Given the description of an element on the screen output the (x, y) to click on. 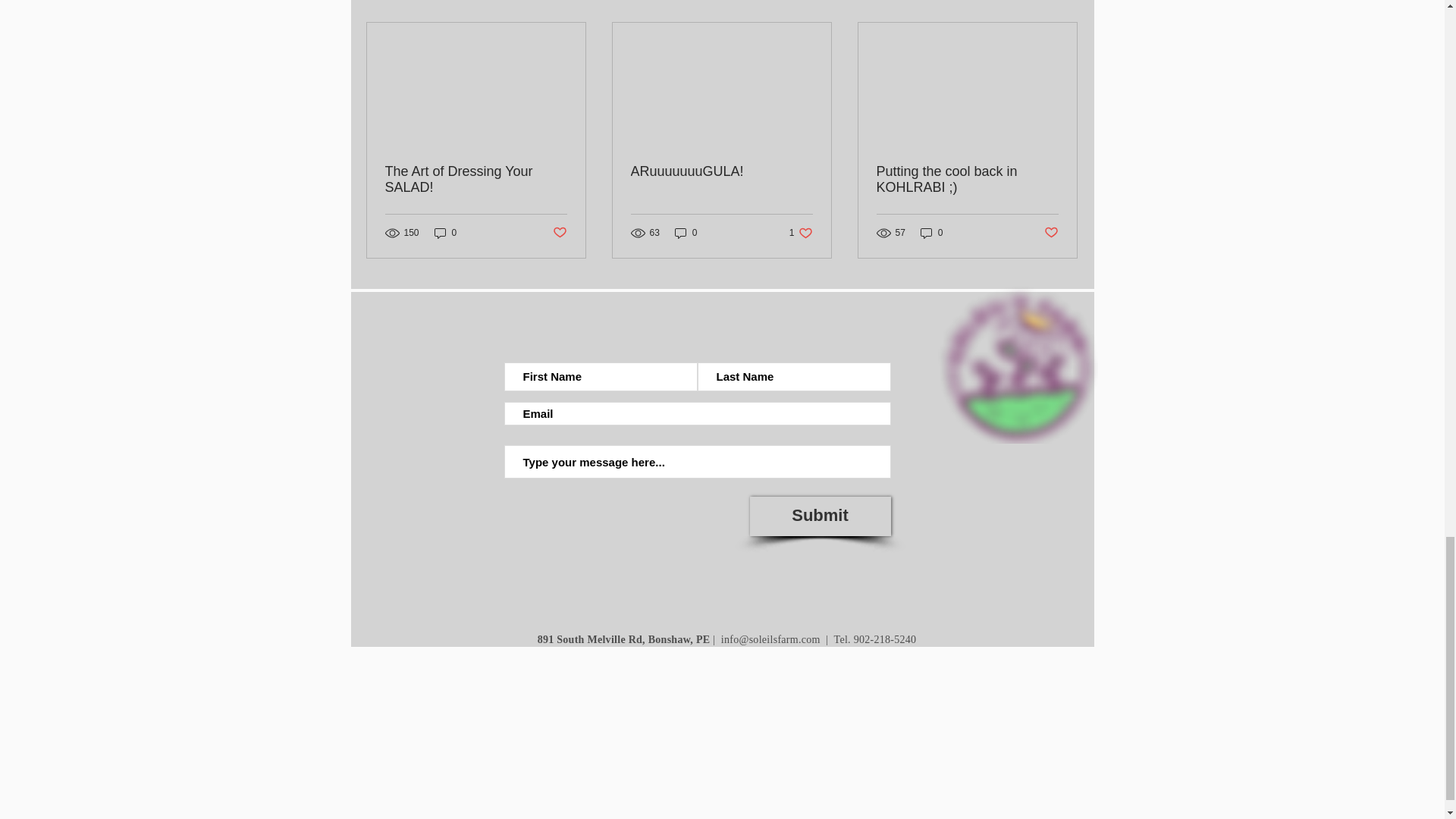
ARuuuuuuuGULA! (721, 171)
Submit (819, 515)
Post not marked as liked (558, 232)
The Art of Dressing Your SALAD! (476, 179)
0 (931, 233)
0 (800, 233)
See All (685, 233)
Post not marked as liked (1061, 3)
0 (1050, 232)
